Given the description of an element on the screen output the (x, y) to click on. 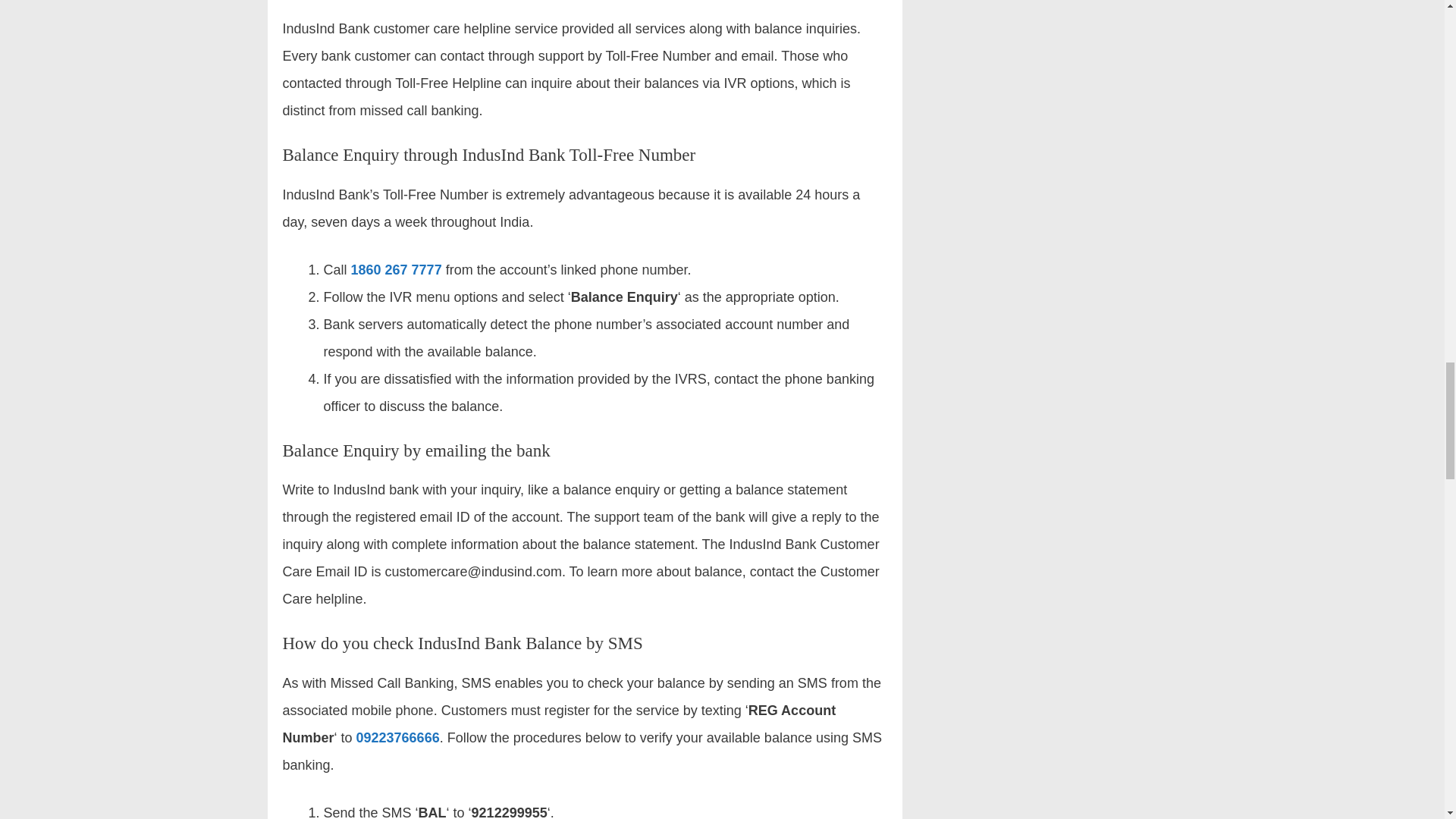
1860 267 7777 (396, 269)
09223766666 (397, 737)
